Given the description of an element on the screen output the (x, y) to click on. 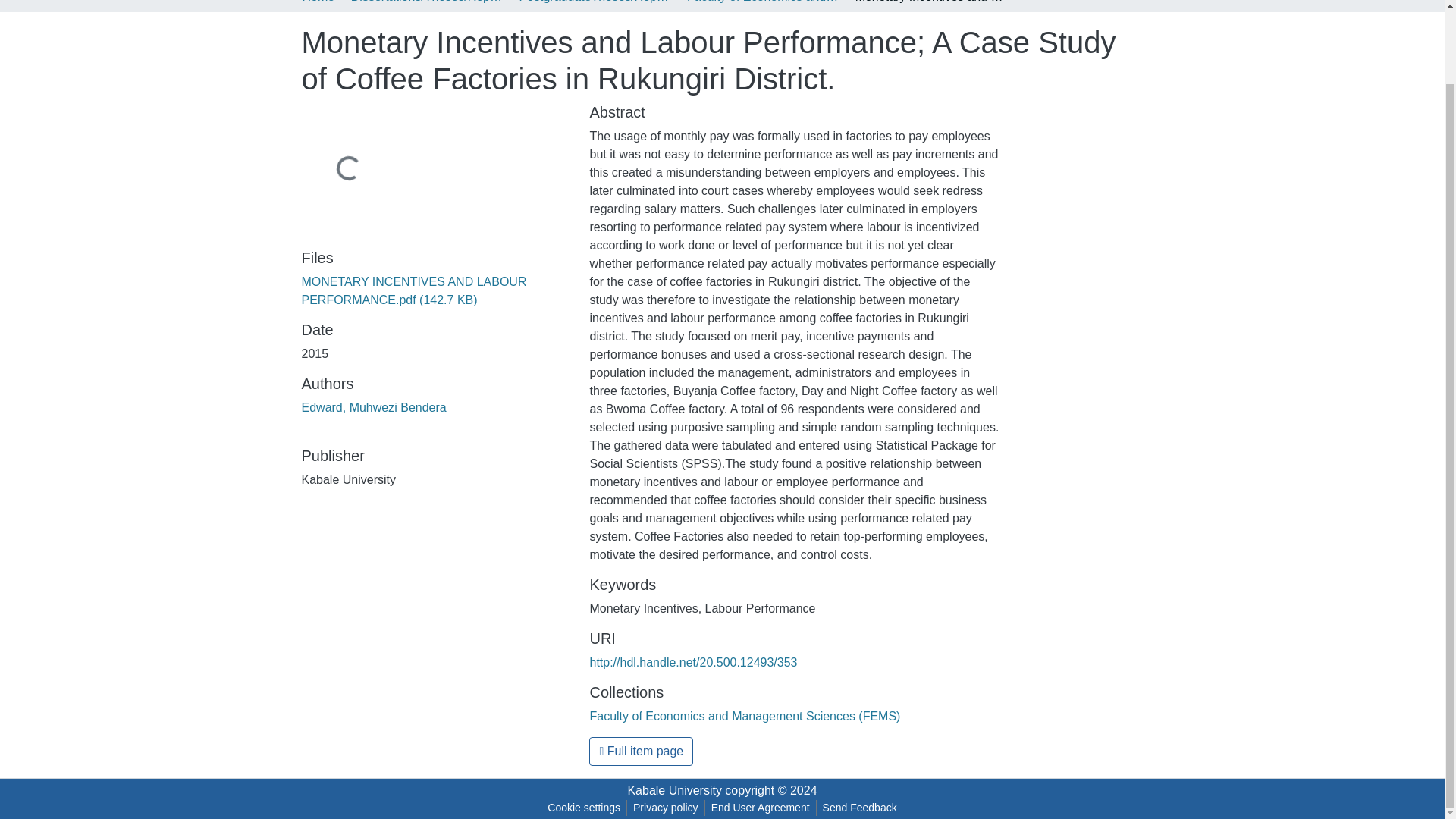
Edward, Muhwezi Bendera (373, 407)
Send Feedback (859, 807)
End User Agreement (759, 807)
Privacy policy (665, 807)
Full item page (641, 751)
Kabale University (674, 789)
Home (317, 2)
Cookie settings (583, 807)
